Given the description of an element on the screen output the (x, y) to click on. 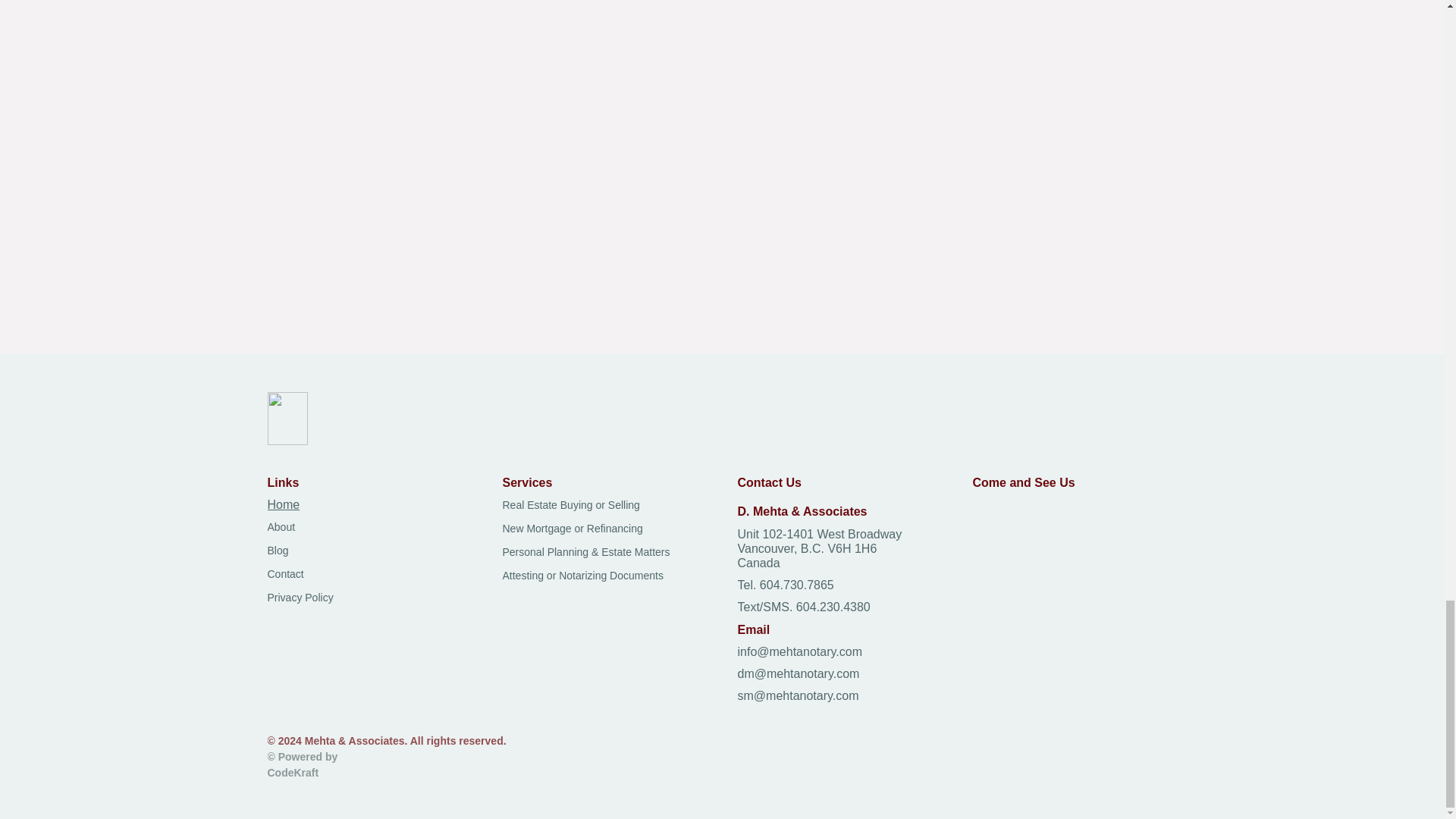
Blog (277, 550)
Home (282, 504)
Privacy Policy (299, 597)
New Mortgage or Refinancing (572, 528)
Attesting or Notarizing Documents (582, 575)
Tel. 604.730.7865 (784, 584)
About (280, 526)
Contact (284, 573)
Real Estate Buying or Selling (570, 504)
